Given the description of an element on the screen output the (x, y) to click on. 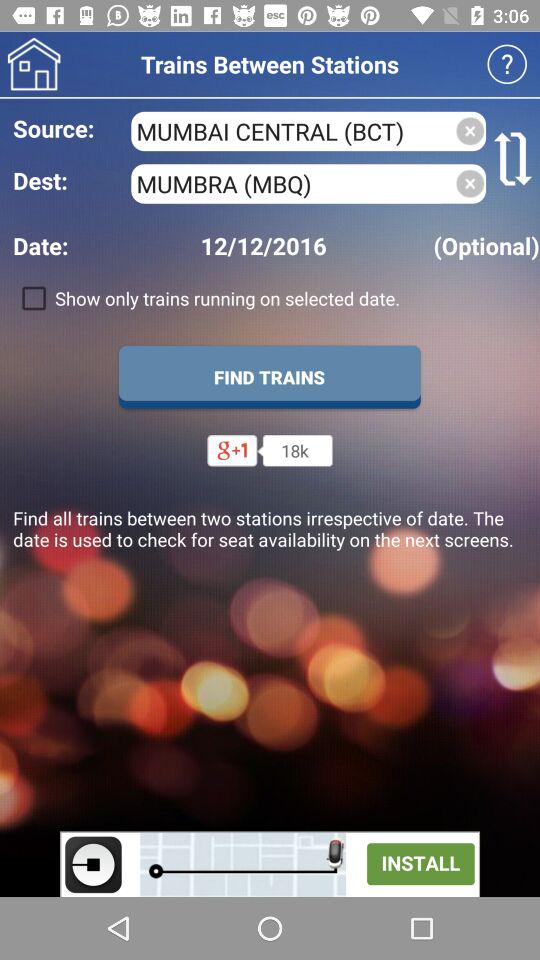
go to previous (33, 63)
